Given the description of an element on the screen output the (x, y) to click on. 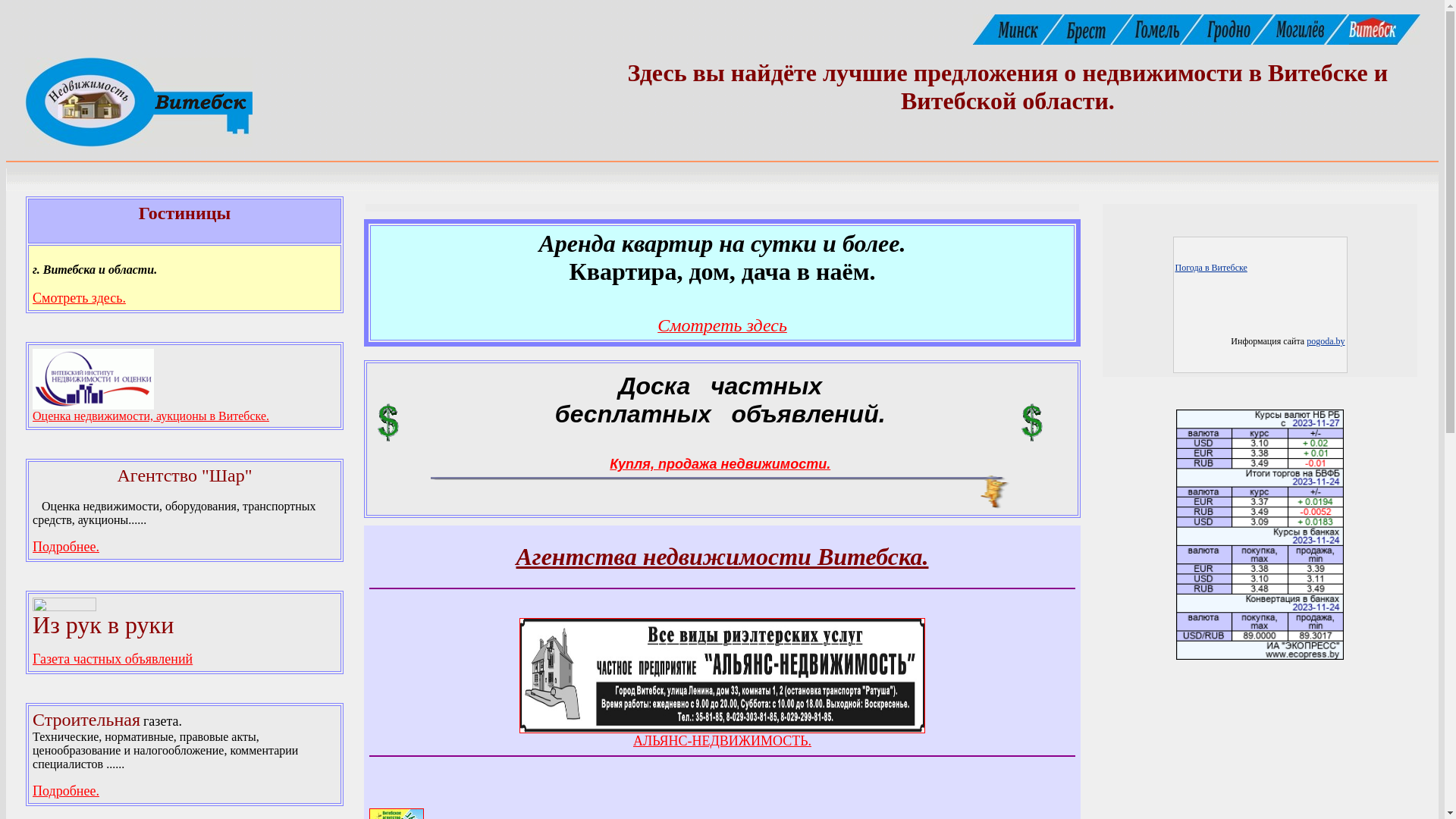
pogoda.by Element type: text (1325, 340)
